Given the description of an element on the screen output the (x, y) to click on. 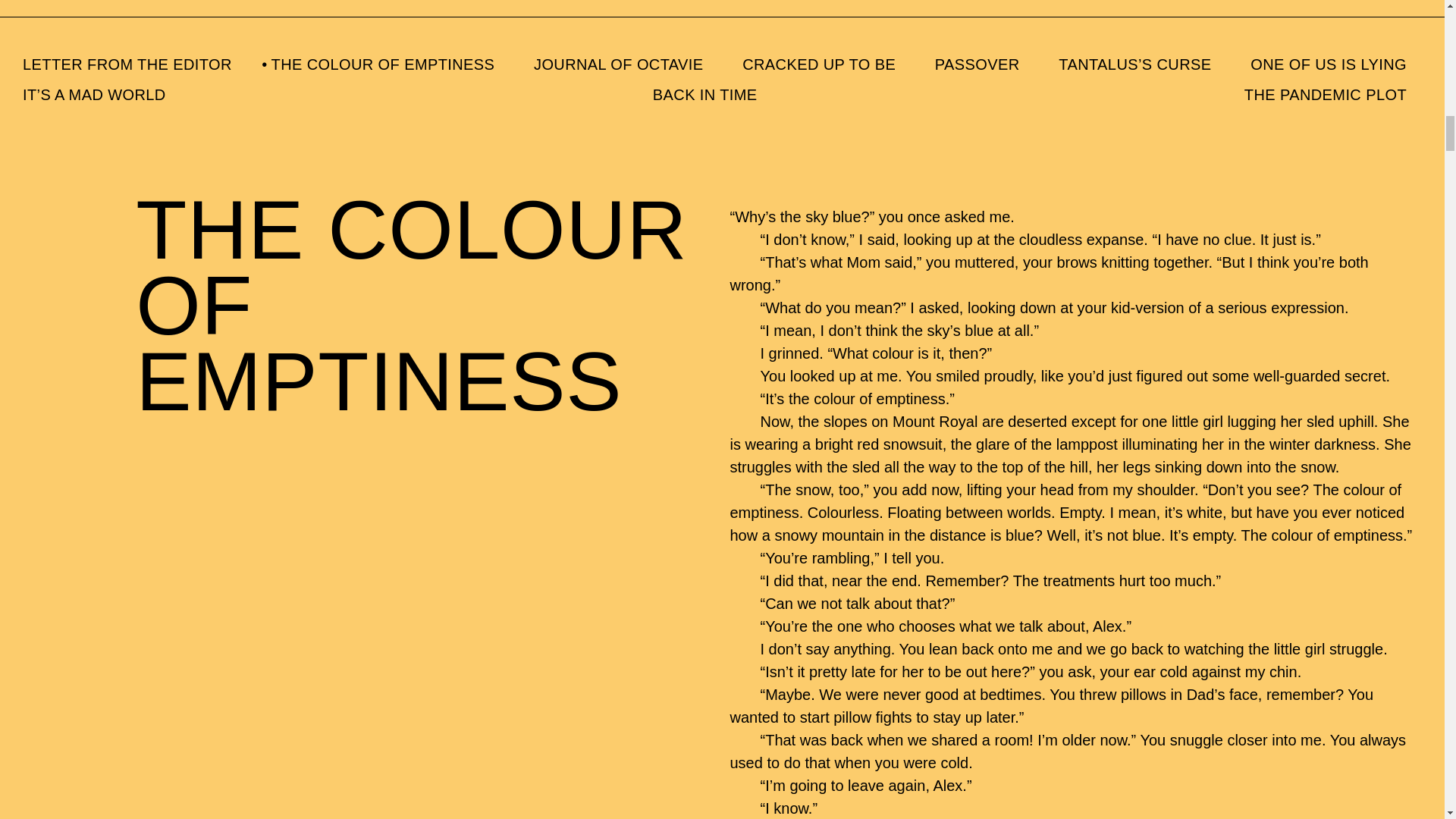
JOURNAL OF OCTAVIE (618, 64)
THE COLOUR OF EMPTINESS (382, 64)
THE PANDEMIC PLOT (1325, 94)
LETTER FROM THE EDITOR (127, 64)
BACK IN TIME (704, 94)
ONE OF US IS LYING (1328, 64)
PASSOVER (977, 64)
CRACKED UP TO BE (818, 64)
